Given the description of an element on the screen output the (x, y) to click on. 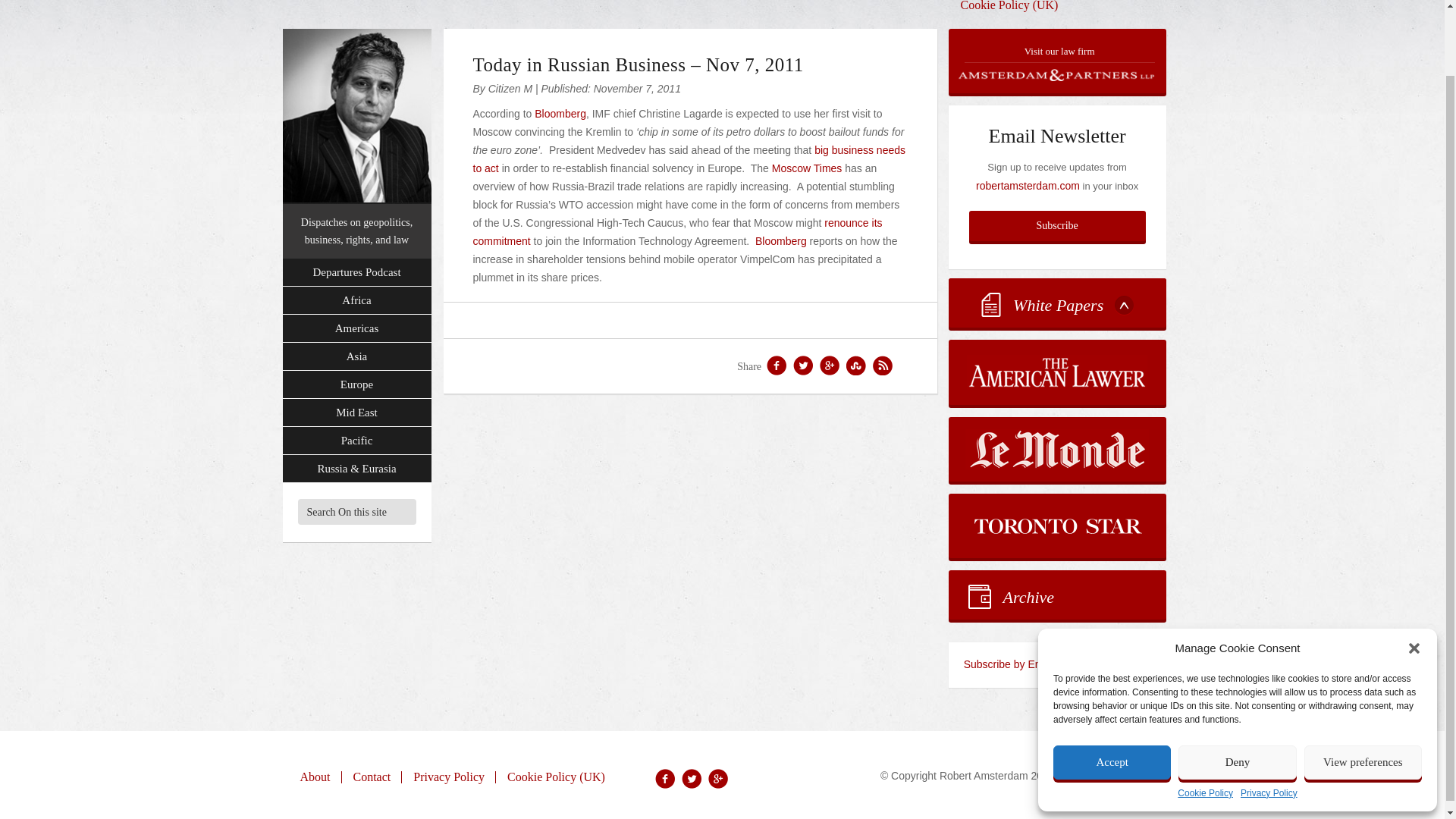
Americas (356, 328)
Deny (1236, 689)
Accept (1111, 689)
renounce its commitment (677, 232)
Subscribe to the Robert Amsterdam feed by email (1057, 664)
Privacy Policy (1268, 720)
Africa (356, 300)
Europe (356, 384)
Asia (356, 357)
Departures Podcast (356, 272)
Bloomberg (560, 113)
Mid East (356, 412)
big business needs to act (689, 159)
View preferences (1363, 689)
Pacific (356, 440)
